Given the description of an element on the screen output the (x, y) to click on. 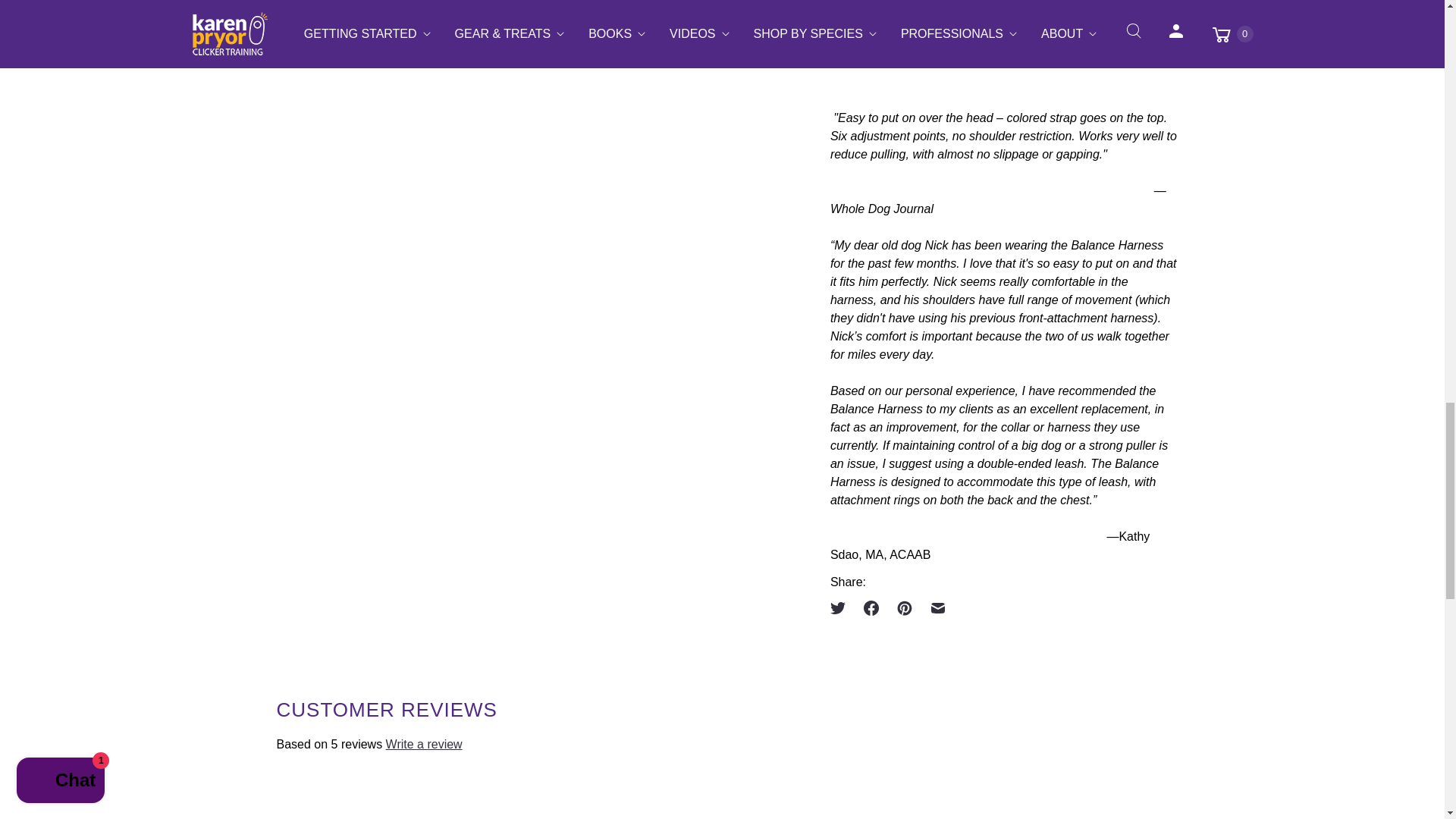
Share this on Pinterest (904, 607)
Email this to a friend (938, 607)
Share this on Facebook (871, 607)
